Given the description of an element on the screen output the (x, y) to click on. 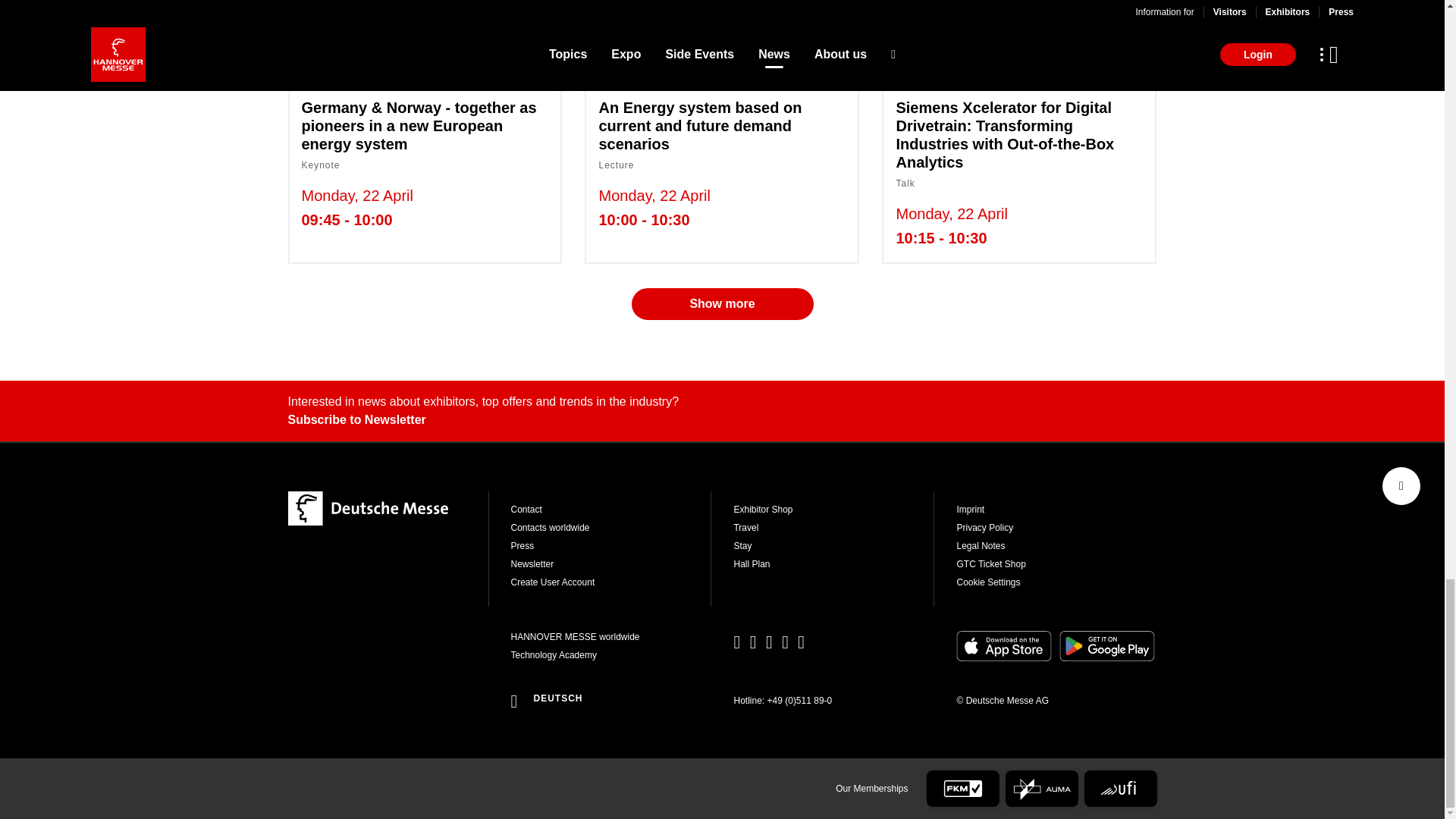
Show more (721, 304)
